Given the description of an element on the screen output the (x, y) to click on. 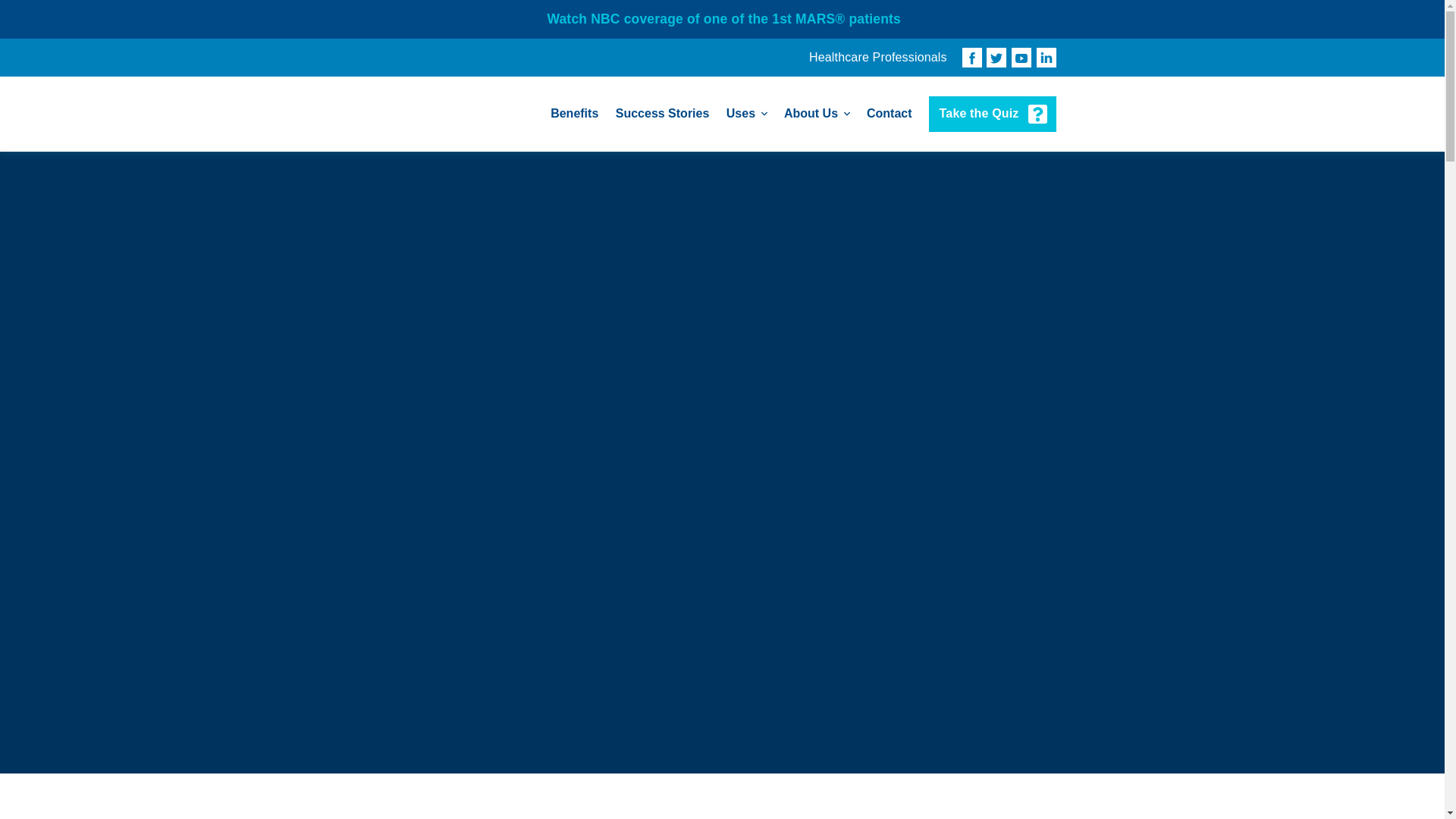
Healthcare Professionals (878, 57)
About Us (816, 113)
Success Stories (663, 113)
Uses (746, 113)
Contact (889, 113)
Magnetic Surgery (456, 113)
Take the Quiz (992, 113)
Benefits (574, 113)
